Given the description of an element on the screen output the (x, y) to click on. 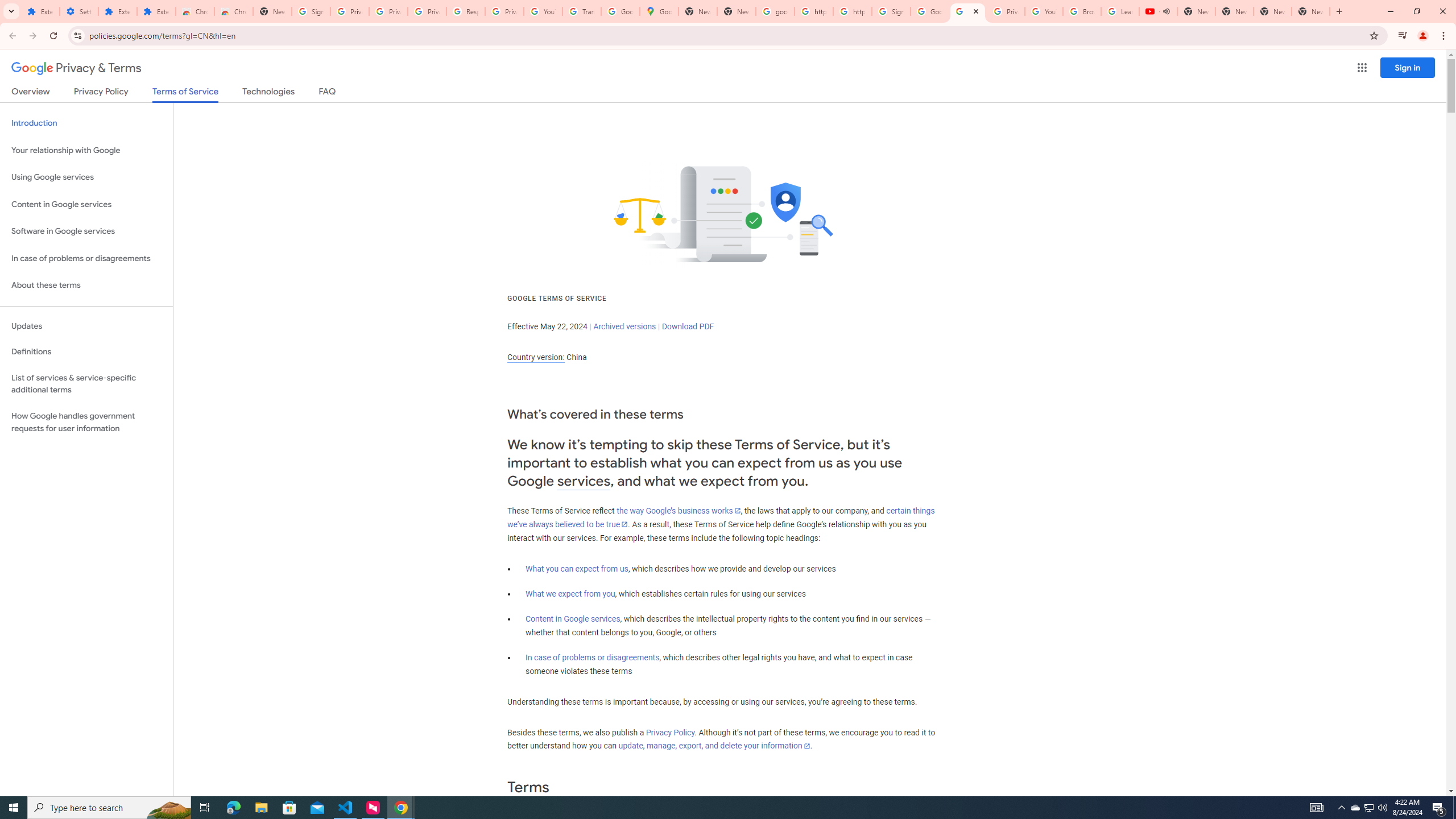
Archived versions (624, 326)
Sign in - Google Accounts (310, 11)
About these terms (86, 284)
In case of problems or disagreements (592, 657)
Extensions (156, 11)
